Given the description of an element on the screen output the (x, y) to click on. 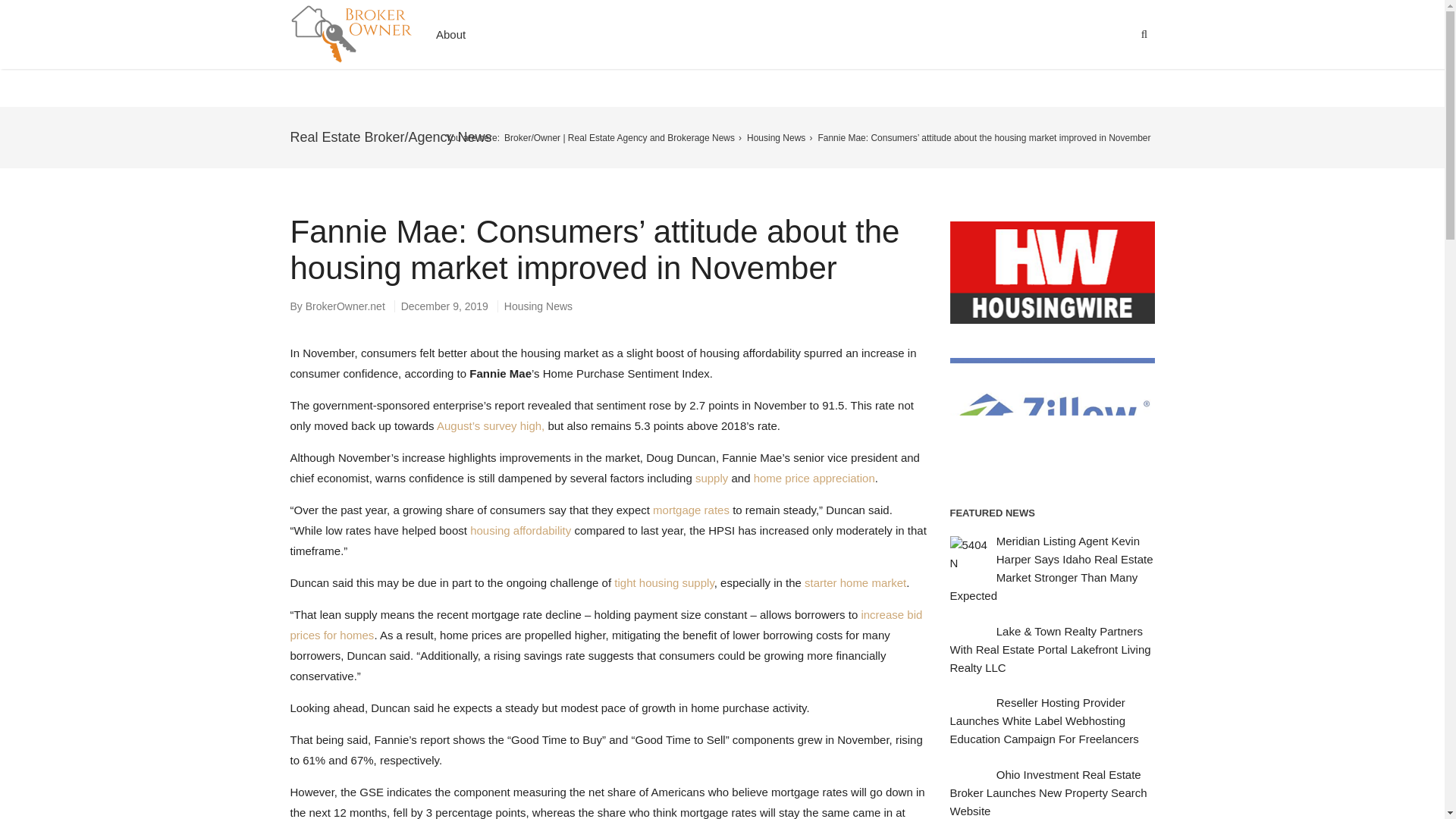
starter home market (855, 582)
supply (711, 477)
Housing News (537, 306)
housing affordability (520, 530)
BrokerOwner.net (345, 306)
Housing News (777, 136)
increase bid prices for homes (605, 624)
tight housing supply (663, 582)
